Given the description of an element on the screen output the (x, y) to click on. 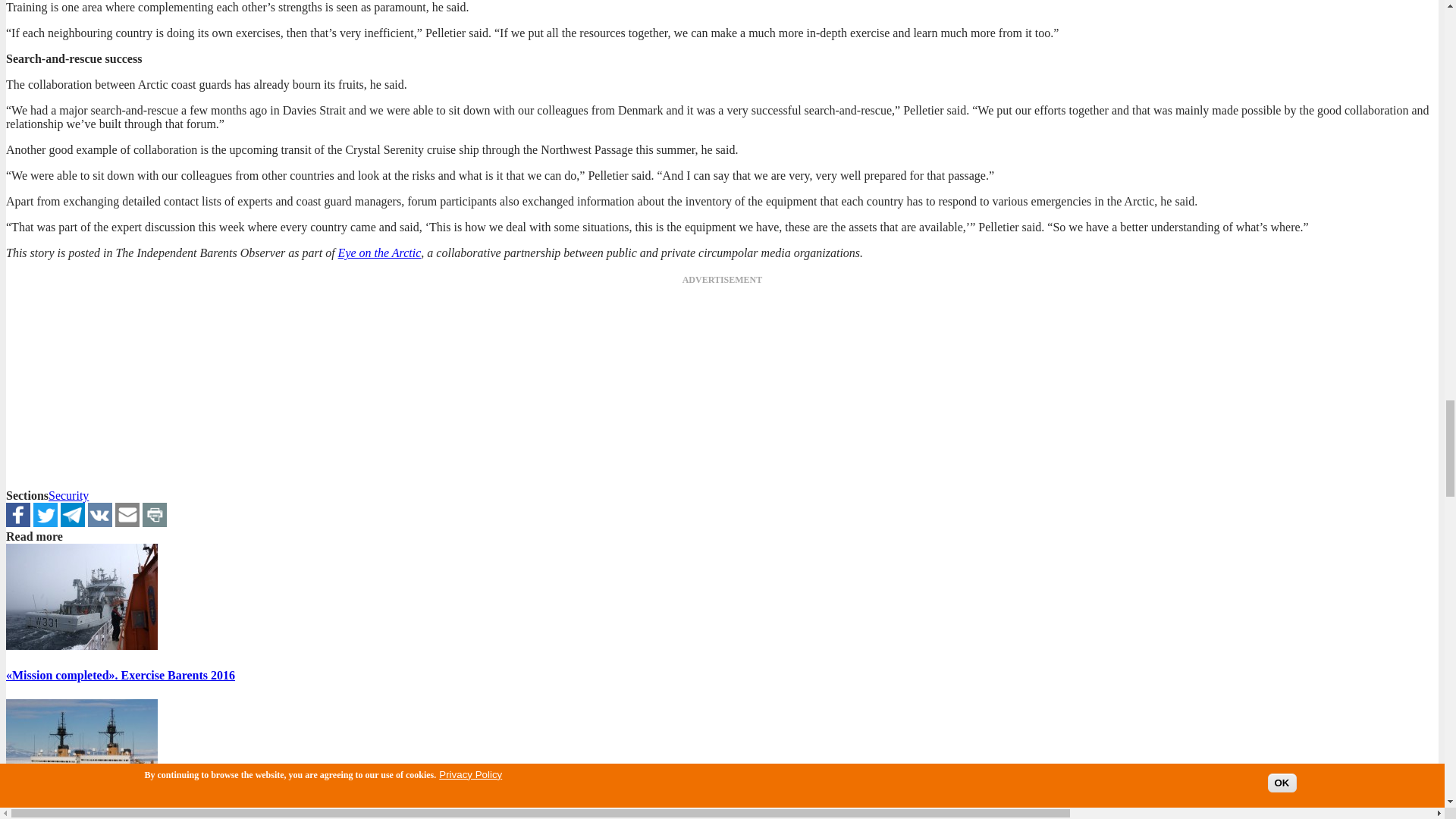
Eye on the Arctic (379, 252)
Security (68, 495)
